Given the description of an element on the screen output the (x, y) to click on. 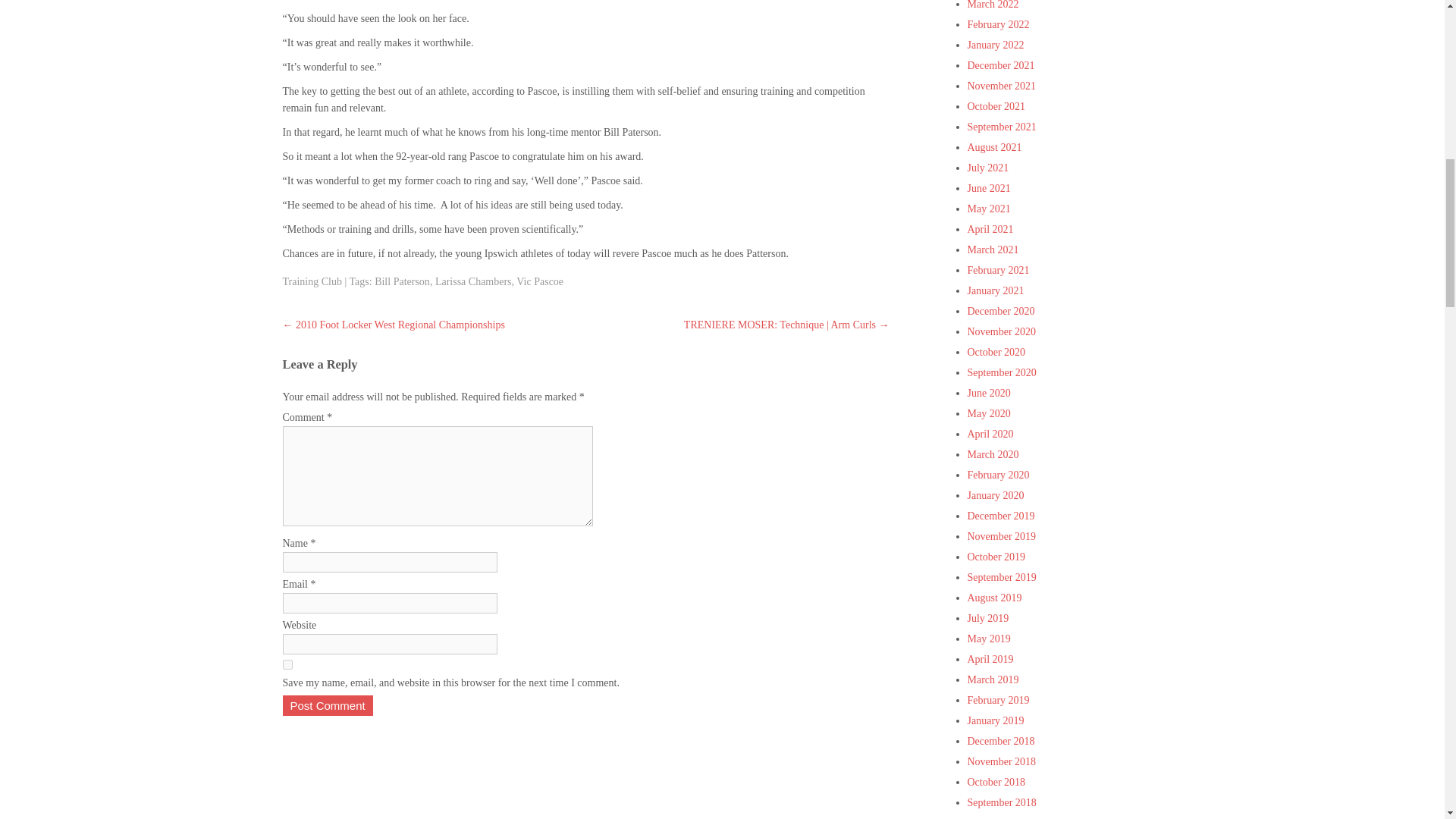
Post Comment (327, 705)
Post Comment (327, 705)
Larissa Chambers (473, 281)
View all posts in Training Club (311, 281)
Bill Paterson (401, 281)
Training Club (311, 281)
yes (287, 664)
Vic Pascoe (539, 281)
